Given the description of an element on the screen output the (x, y) to click on. 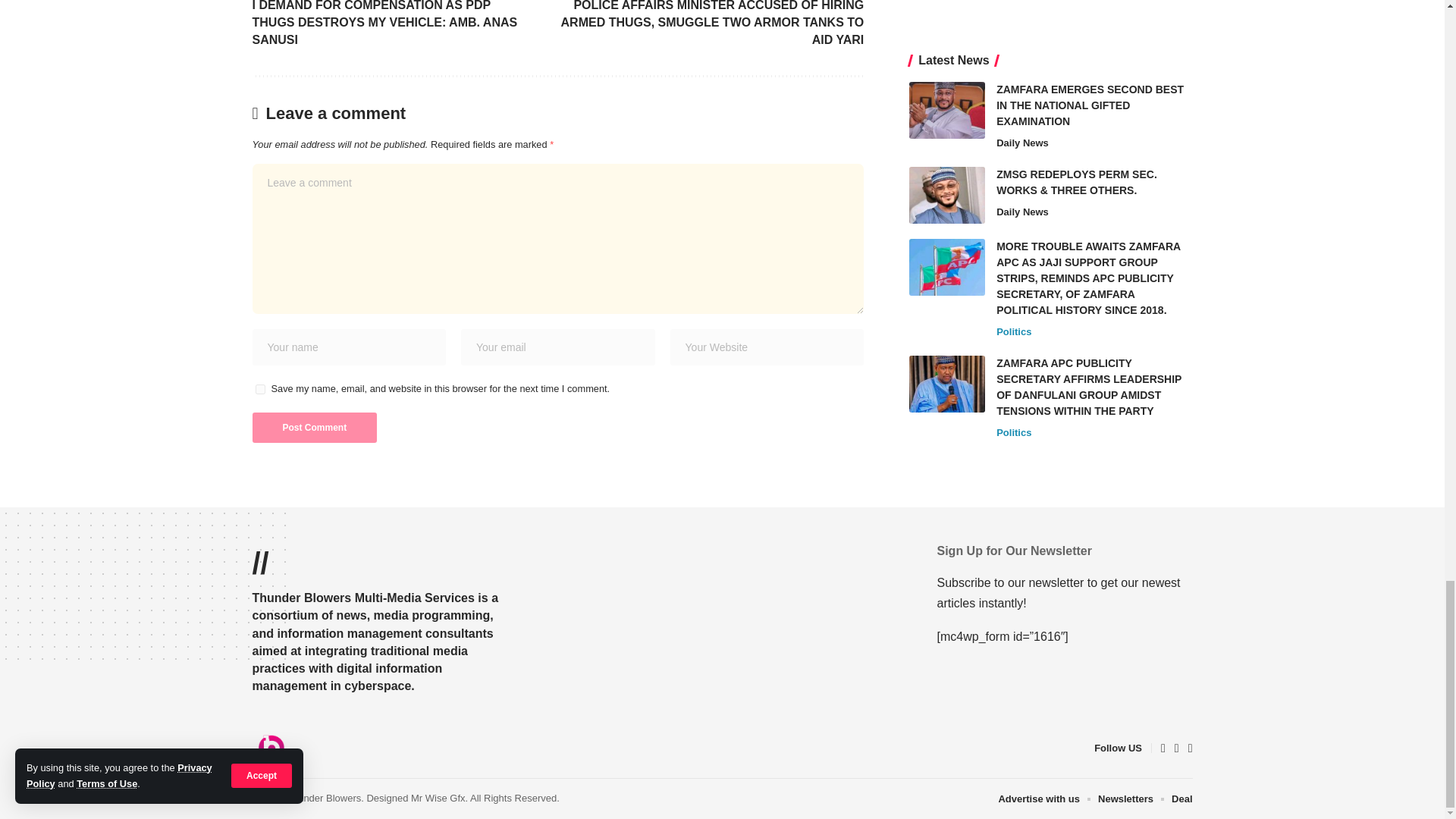
Thunder Blowers (270, 747)
Post Comment (314, 427)
yes (259, 388)
